Given the description of an element on the screen output the (x, y) to click on. 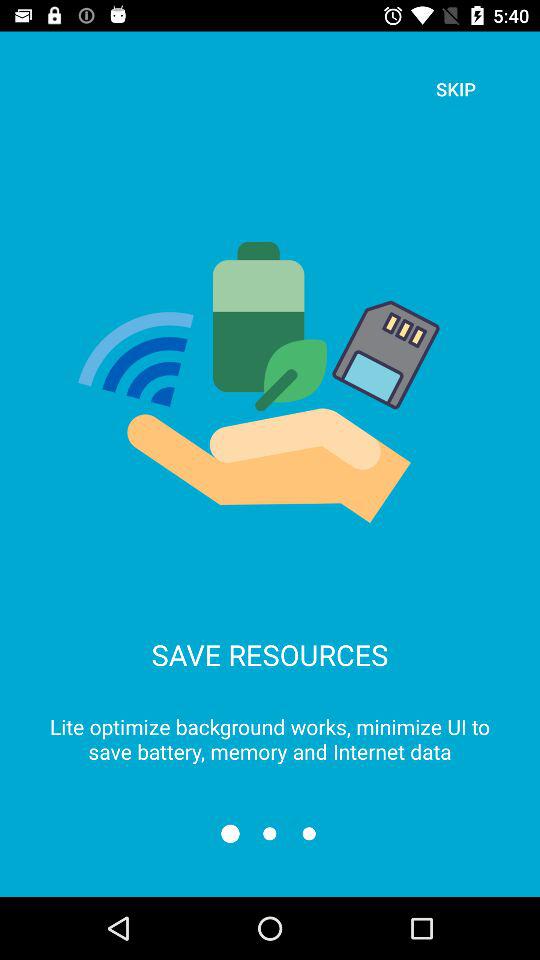
this button will change to a new informational screen (269, 833)
